Given the description of an element on the screen output the (x, y) to click on. 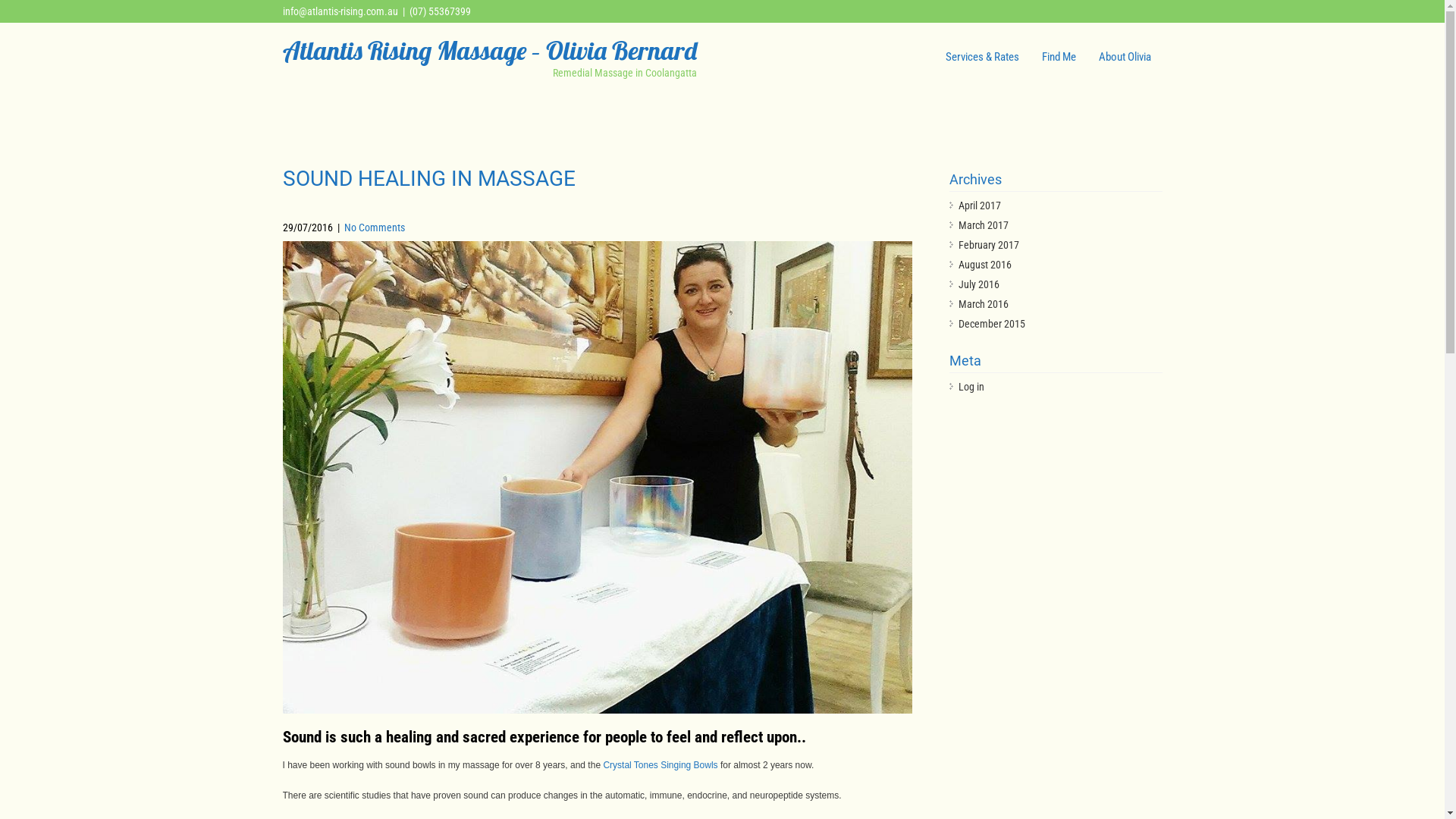
March 2016 Element type: text (983, 304)
Find Me Element type: text (1057, 56)
July 2016 Element type: text (978, 284)
April 2017 Element type: text (979, 205)
info@atlantis-rising.com.au Element type: text (339, 11)
December 2015 Element type: text (991, 323)
Log in Element type: text (971, 386)
No Comments Element type: text (374, 227)
March 2017 Element type: text (983, 225)
February 2017 Element type: text (988, 244)
August 2016 Element type: text (984, 264)
About Olivia Element type: text (1124, 56)
Services & Rates Element type: text (982, 56)
Crystal Tones Singing Bowls Element type: text (659, 764)
